Given the description of an element on the screen output the (x, y) to click on. 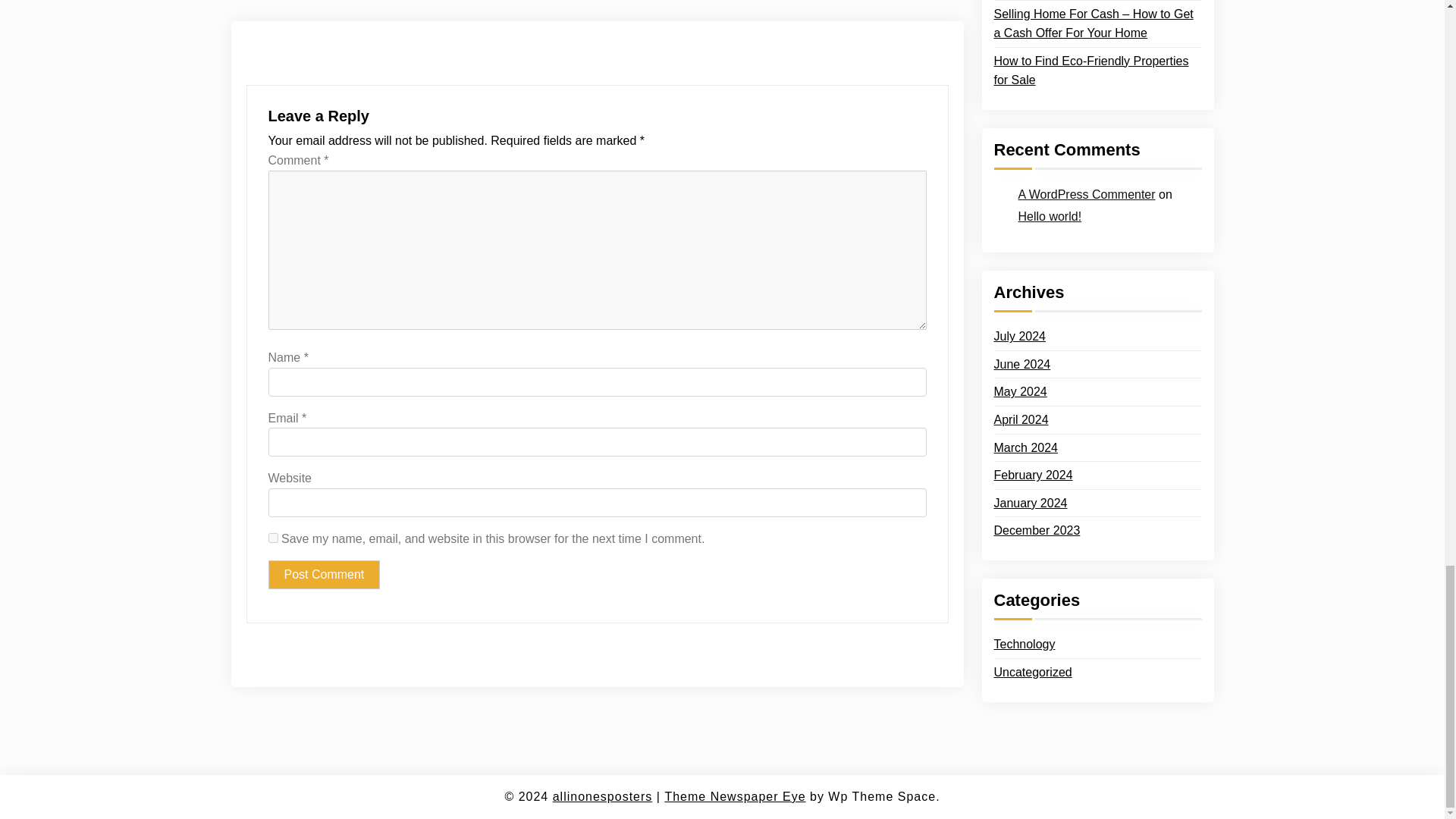
Post Comment (323, 574)
Post Comment (323, 574)
yes (272, 537)
